Given the description of an element on the screen output the (x, y) to click on. 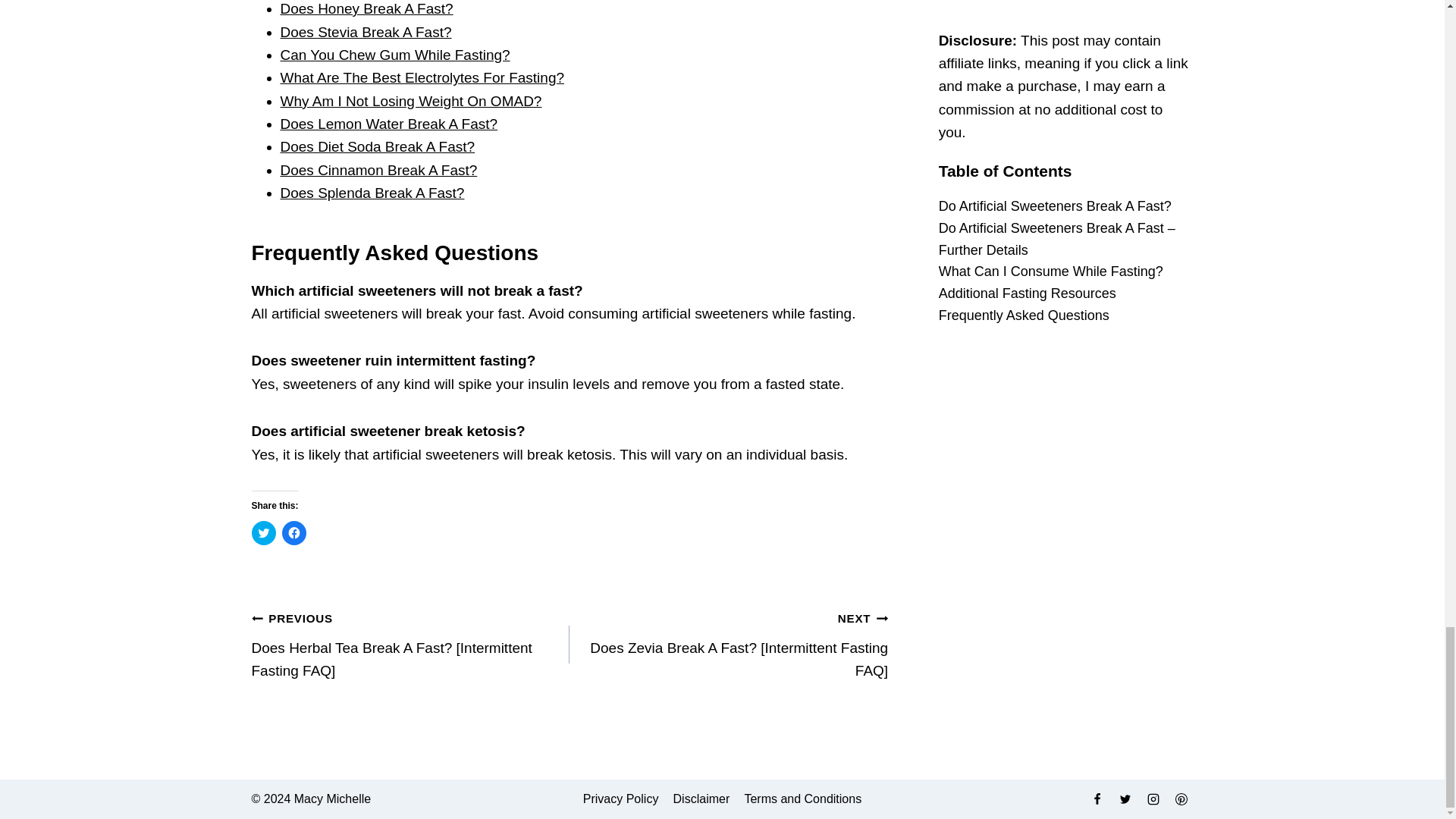
What Are The Best Electrolytes For Fasting? (422, 77)
Click to share on Twitter (263, 532)
Can You Chew Gum While Fasting? (396, 54)
Does Lemon Water Break A Fast? (389, 123)
Does Honey Break A Fast? (366, 8)
Does Stevia Break A Fast? (366, 32)
Why Am I Not Losing Weight On OMAD? (411, 100)
Does Diet Soda Break A Fast? (378, 146)
Click to share on Facebook (293, 532)
